Given the description of an element on the screen output the (x, y) to click on. 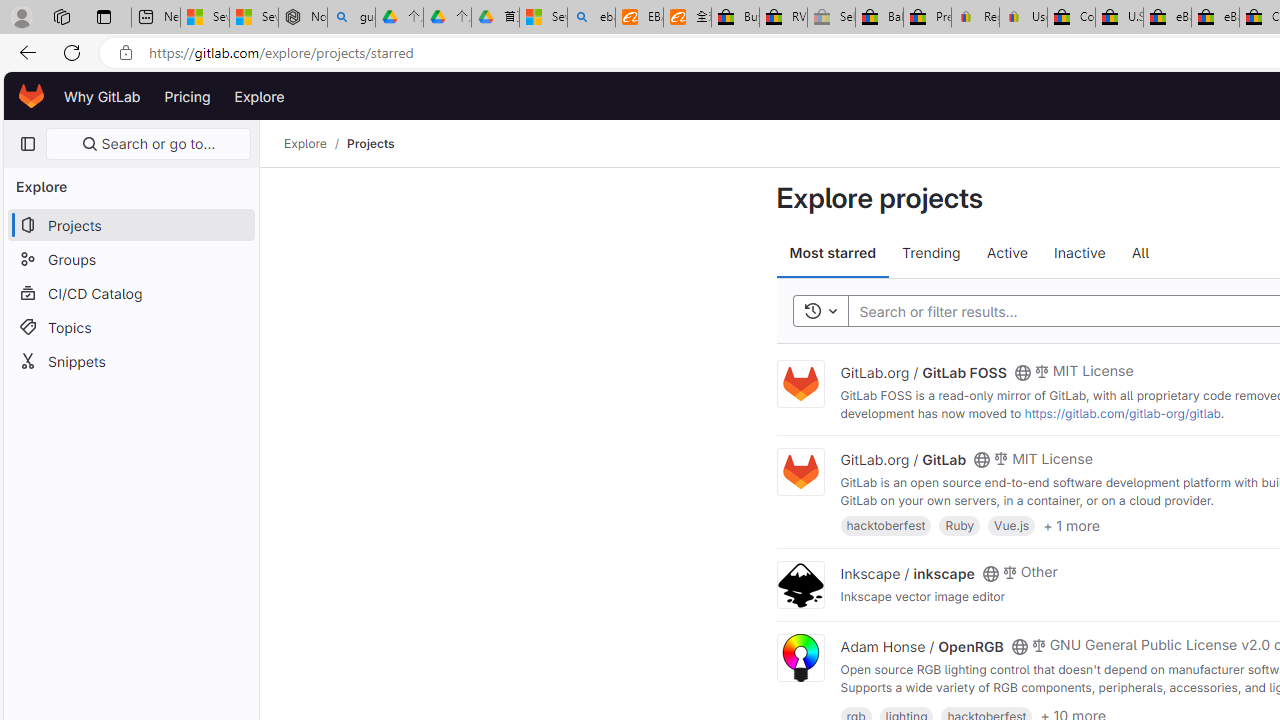
Explore/ (316, 143)
GitLab.org / GitLab FOSS (923, 371)
Toggle history (820, 311)
Pricing (187, 95)
Trending (931, 253)
Buy Auto Parts & Accessories | eBay (735, 17)
Snippets (130, 360)
CI/CD Catalog (130, 292)
eBay Inc. Reports Third Quarter 2023 Results (1215, 17)
User Privacy Notice | eBay (1023, 17)
Register: Create a personal eBay account (975, 17)
Primary navigation sidebar (27, 143)
GitLab.org / GitLab (902, 459)
